Given the description of an element on the screen output the (x, y) to click on. 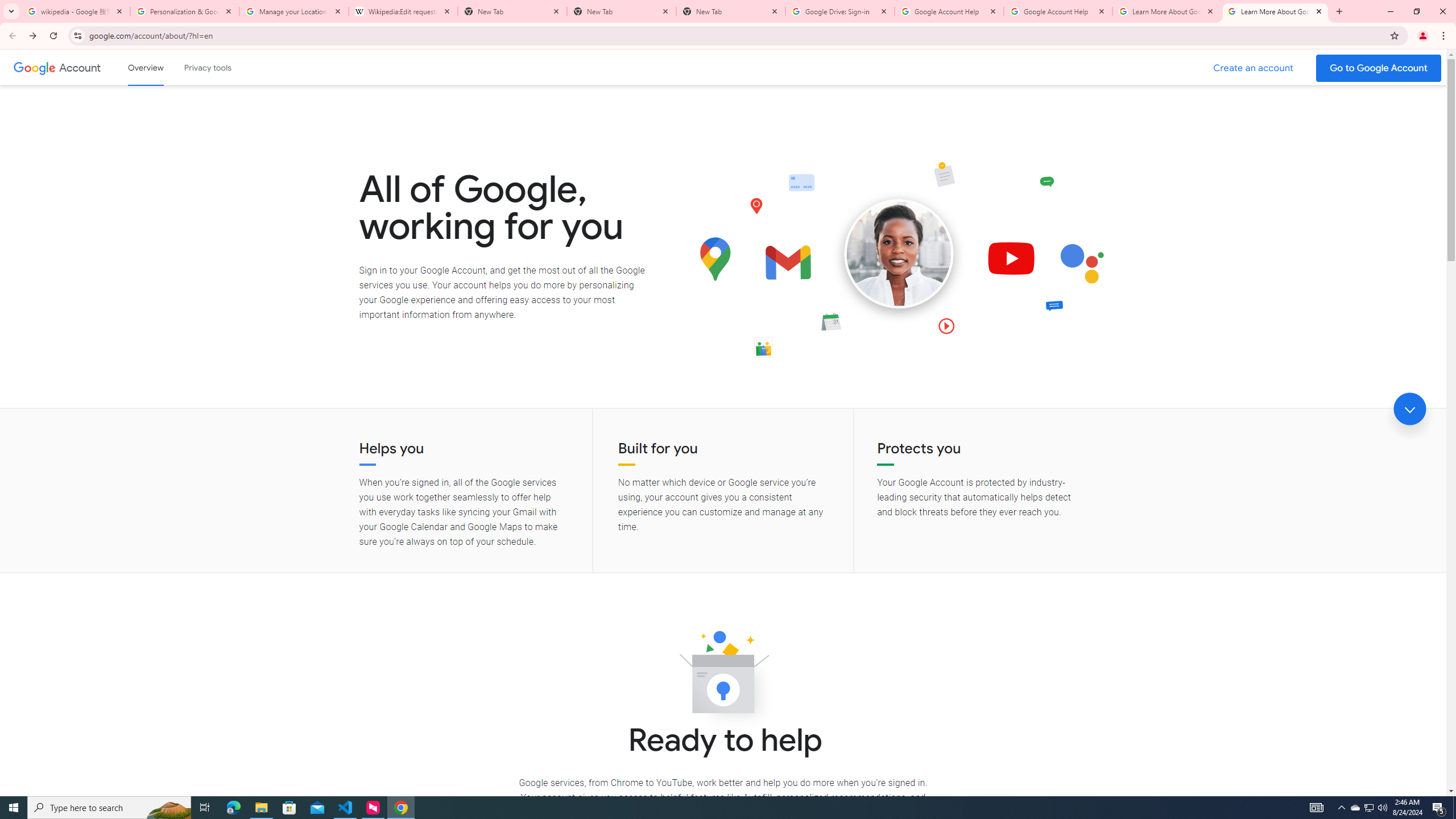
Google Account (80, 67)
